Given the description of an element on the screen output the (x, y) to click on. 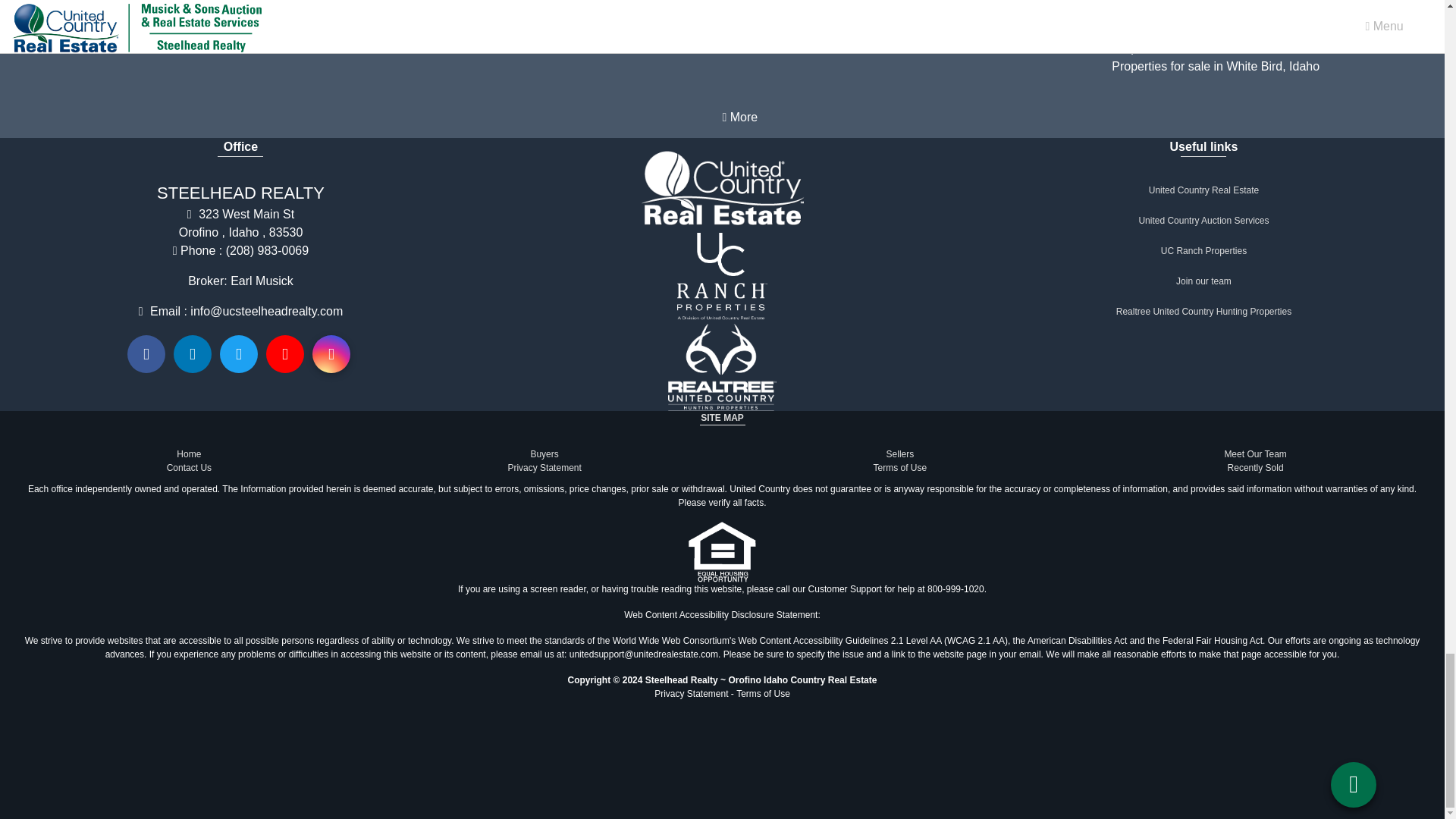
LinkedIn link (192, 353)
Youtube link (285, 353)
Twitter link (238, 353)
Instagram link (331, 353)
Facebook link (146, 353)
Equal Housing Opportunity logo (721, 551)
